Given the description of an element on the screen output the (x, y) to click on. 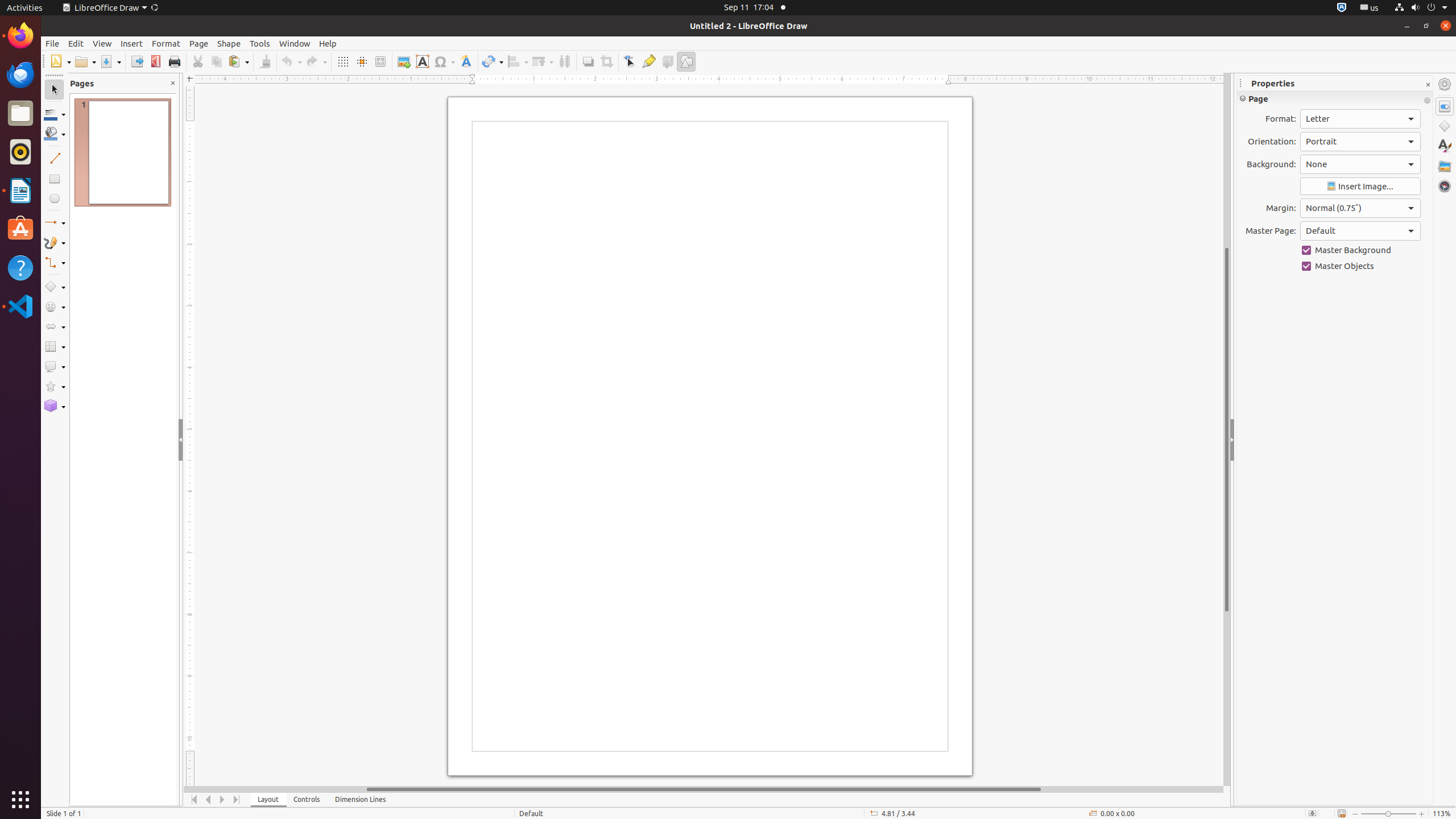
Image Element type: push-button (403, 61)
Glue Points Element type: push-button (648, 61)
Page 1 Element type: panel (122, 152)
Master Background Element type: check-box (1360, 249)
